Given the description of an element on the screen output the (x, y) to click on. 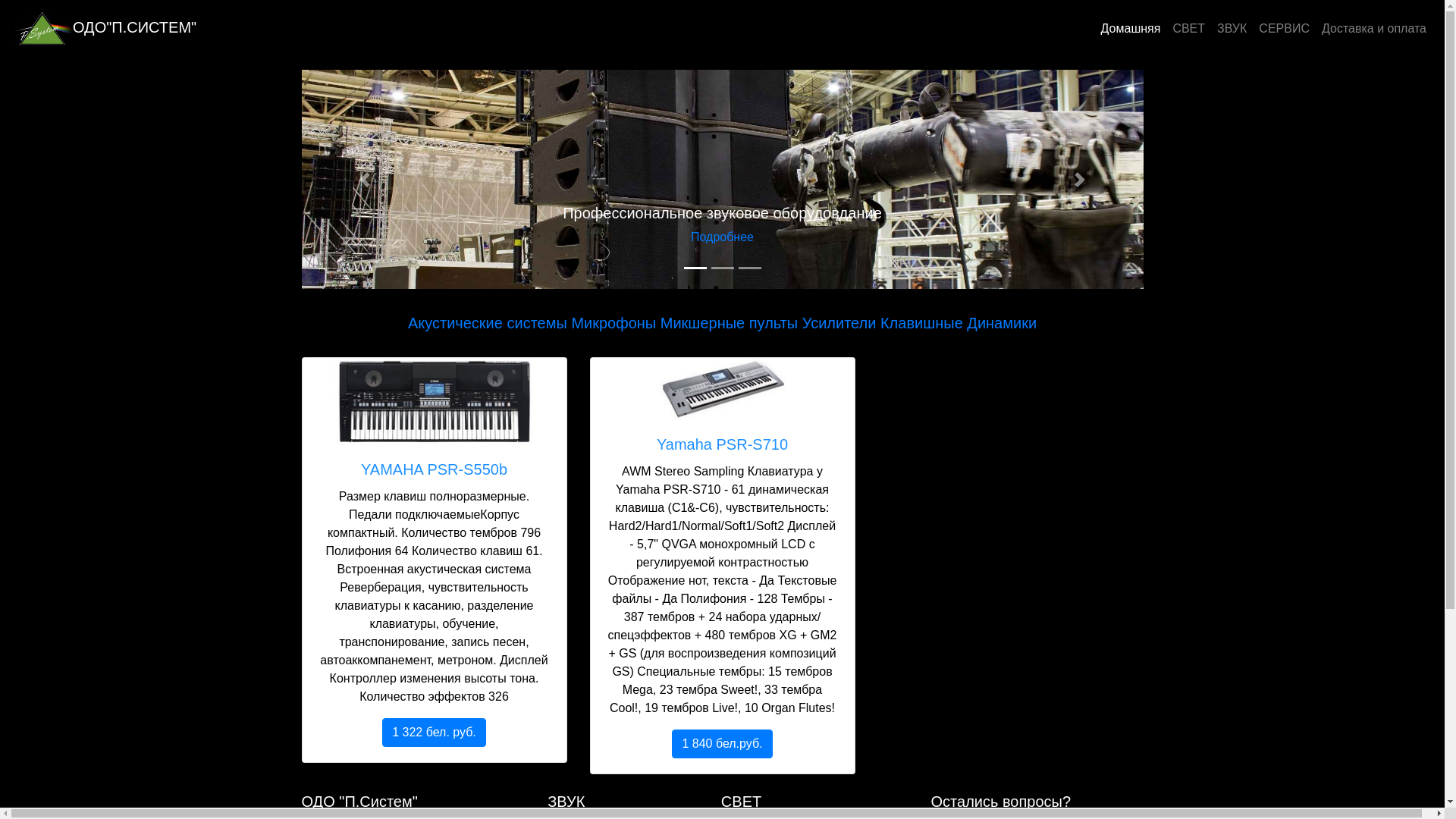
Previous Element type: text (364, 178)
Next Element type: text (1079, 178)
